Given the description of an element on the screen output the (x, y) to click on. 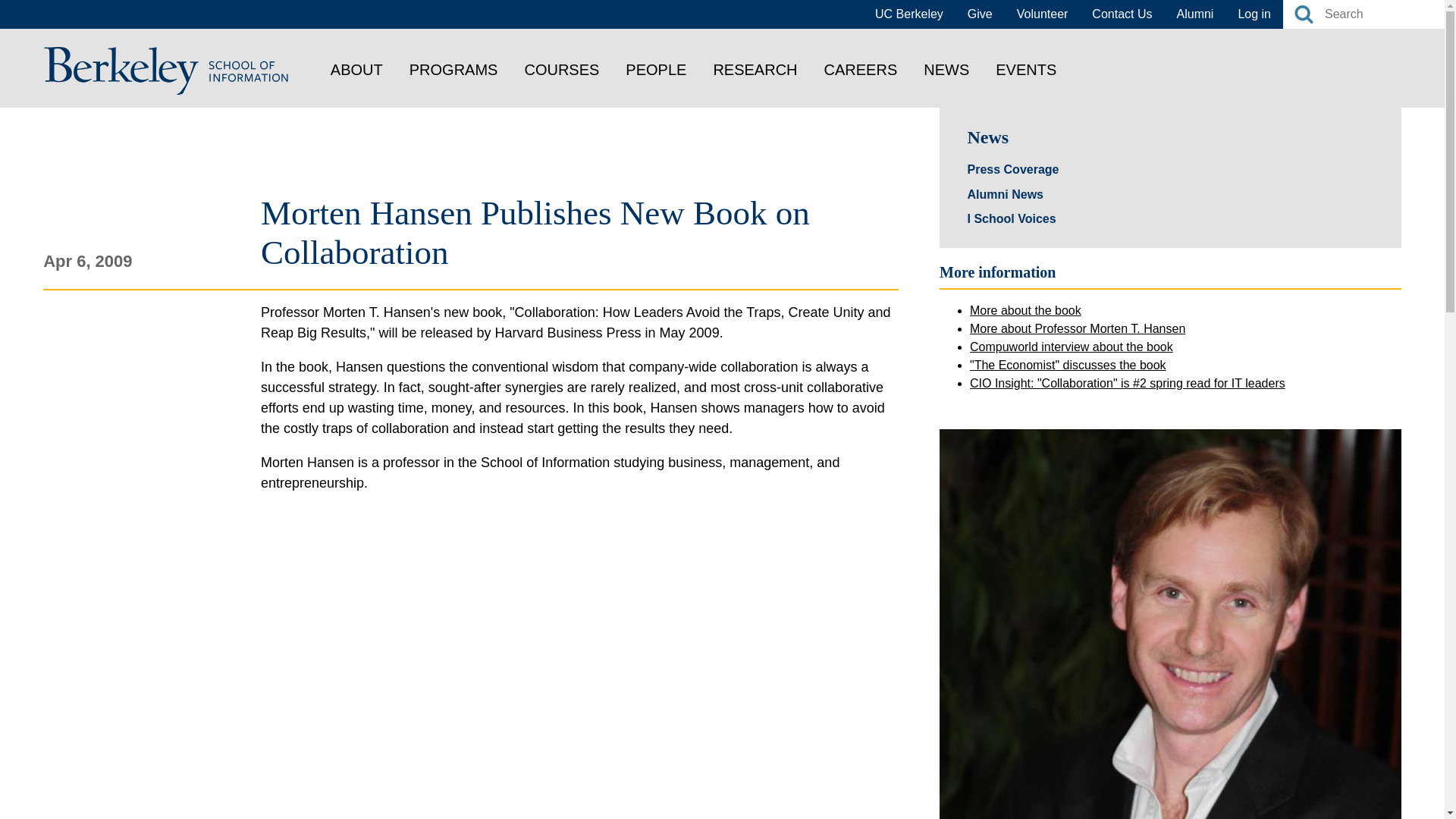
Volunteer (1042, 14)
Search (1303, 13)
Log in (1253, 14)
Alumni (1194, 14)
PROGRAMS (453, 69)
Home (166, 69)
ABOUT (356, 69)
Give (979, 14)
Contact Us (1121, 14)
UC Berkeley (909, 14)
